Given the description of an element on the screen output the (x, y) to click on. 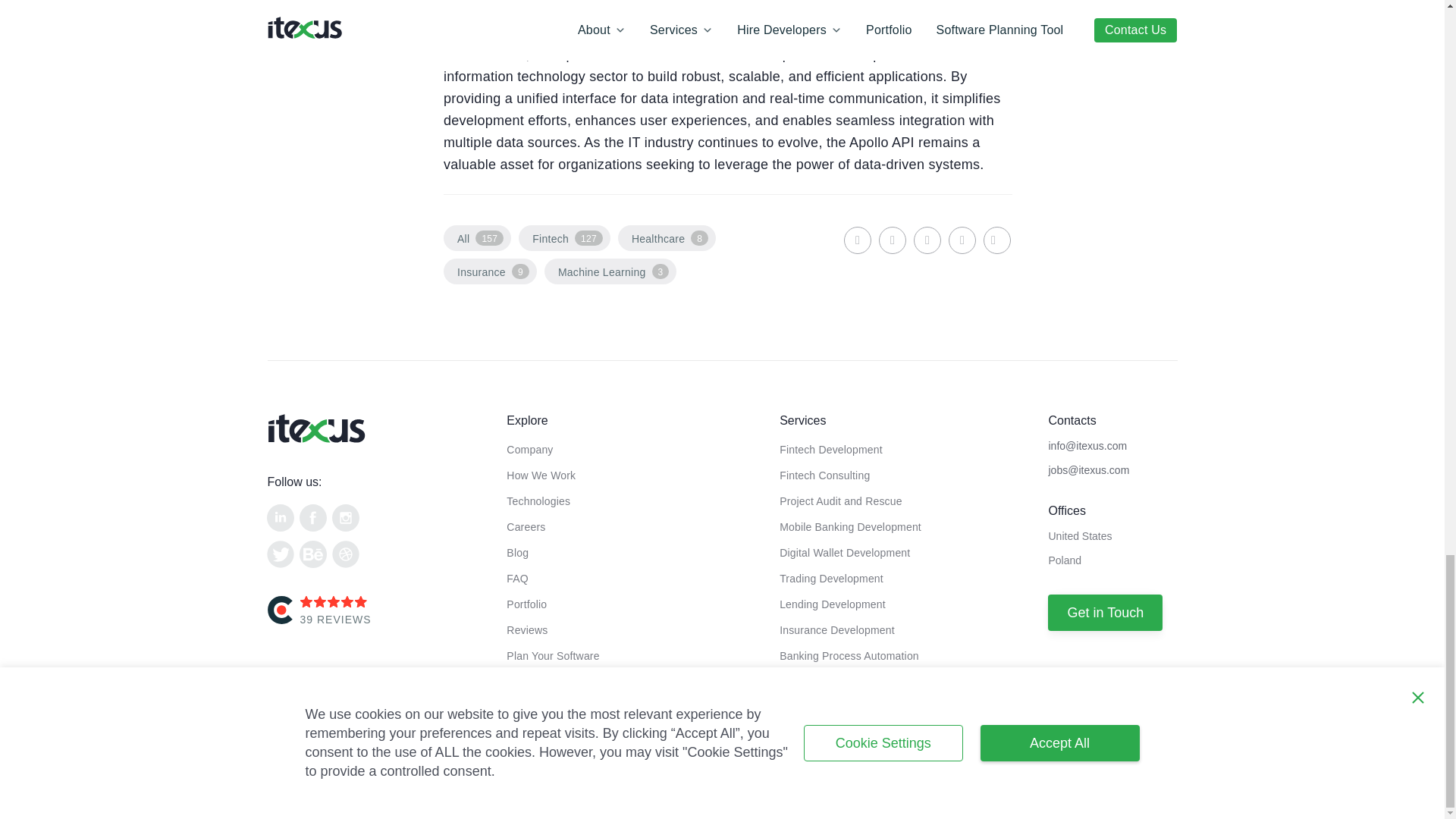
Copy to Clipboard (997, 239)
Share in Reddit (962, 239)
Share in Facebook (892, 239)
Share in Linkedin (857, 239)
Share in Twitter (927, 239)
